Given the description of an element on the screen output the (x, y) to click on. 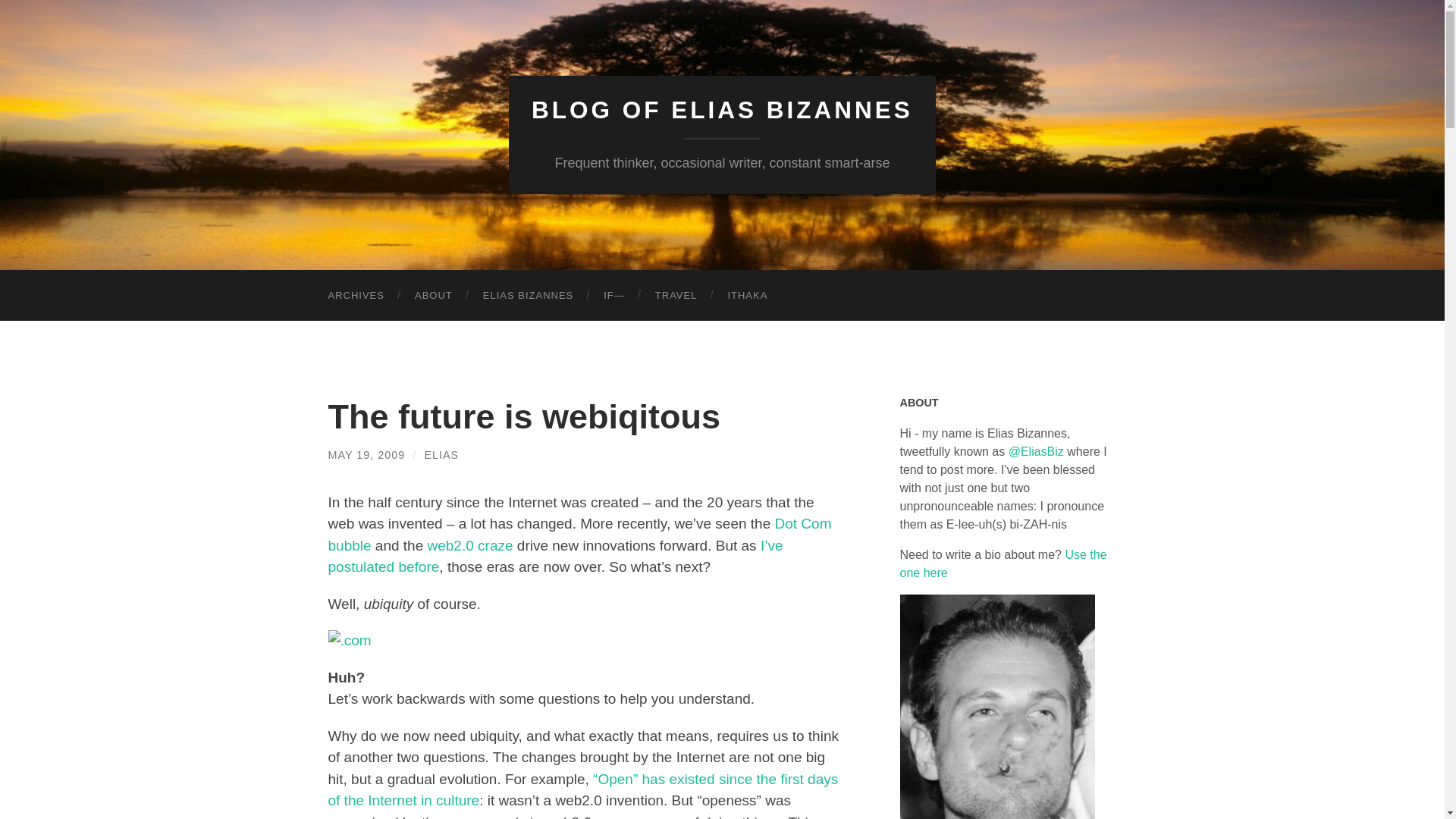
Posts by elias (440, 454)
.com by leprecon, on Flickr (349, 640)
MAY 19, 2009 (365, 454)
ITHAKA (747, 295)
BLOG OF ELIAS BIZANNES (721, 109)
ABOUT (432, 295)
ARCHIVES (355, 295)
ELIAS (440, 454)
ELIAS BIZANNES (527, 295)
TRAVEL (676, 295)
